Given the description of an element on the screen output the (x, y) to click on. 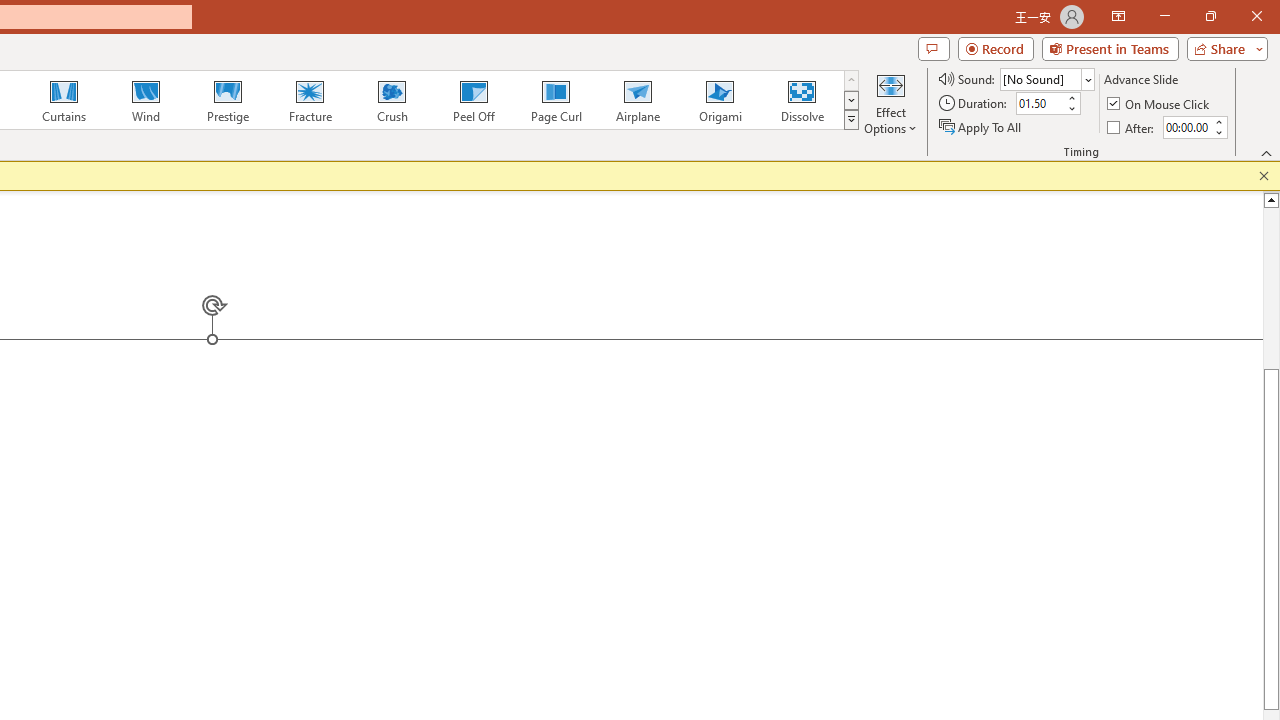
Replace... (617, 161)
Styles (523, 188)
Heading 3 (1130, 584)
